Given the description of an element on the screen output the (x, y) to click on. 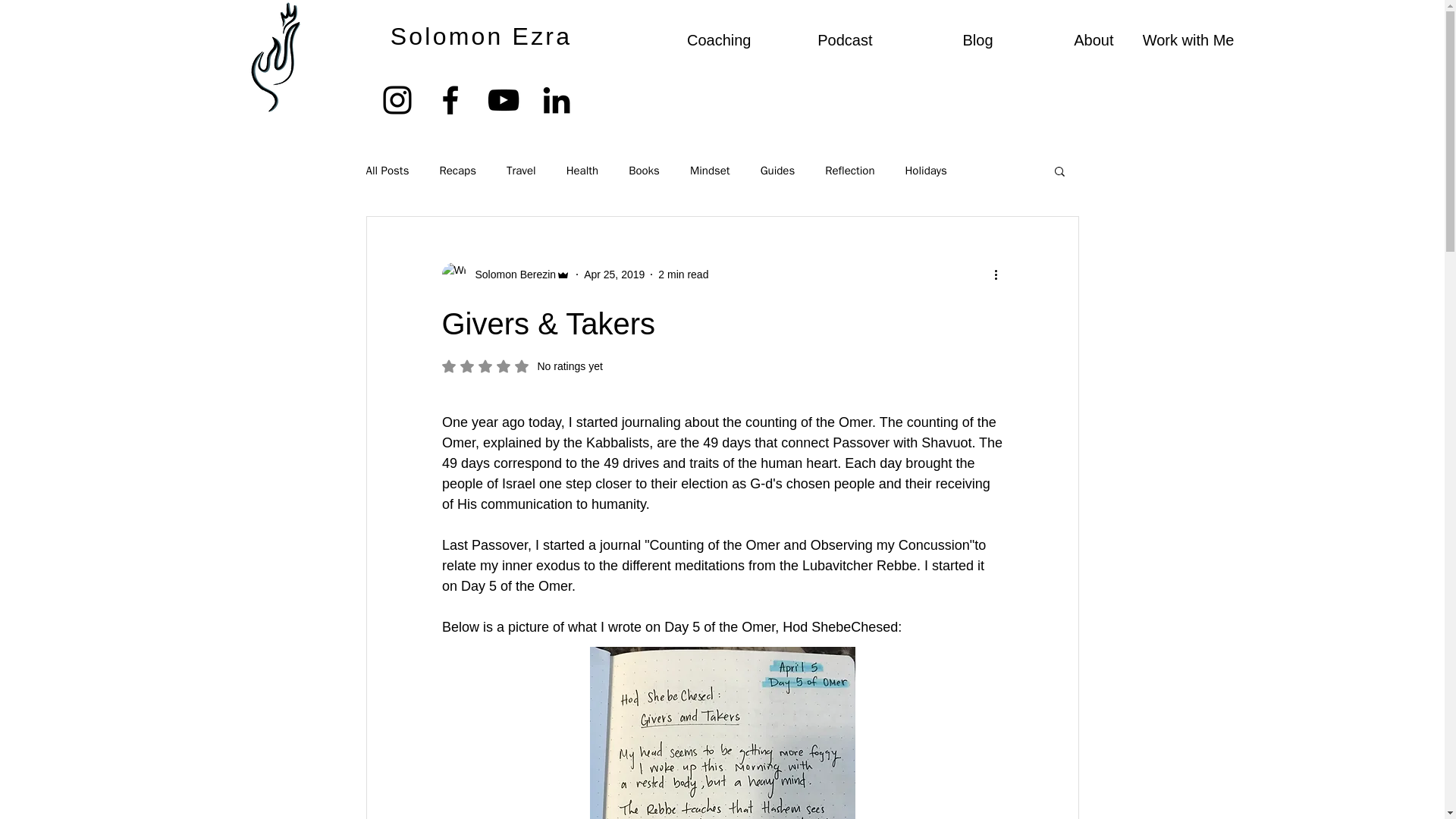
Health (582, 170)
All Posts (387, 170)
Guides (777, 170)
Blog (943, 39)
Recaps (457, 170)
Books (643, 170)
Coaching (702, 39)
Solomon Ezra (481, 35)
Solomon Berezin (505, 274)
Apr 25, 2019 (614, 274)
Holidays (925, 170)
Travel (520, 170)
About (1064, 39)
Work with Me (1185, 39)
Solomon Berezin (510, 274)
